Given the description of an element on the screen output the (x, y) to click on. 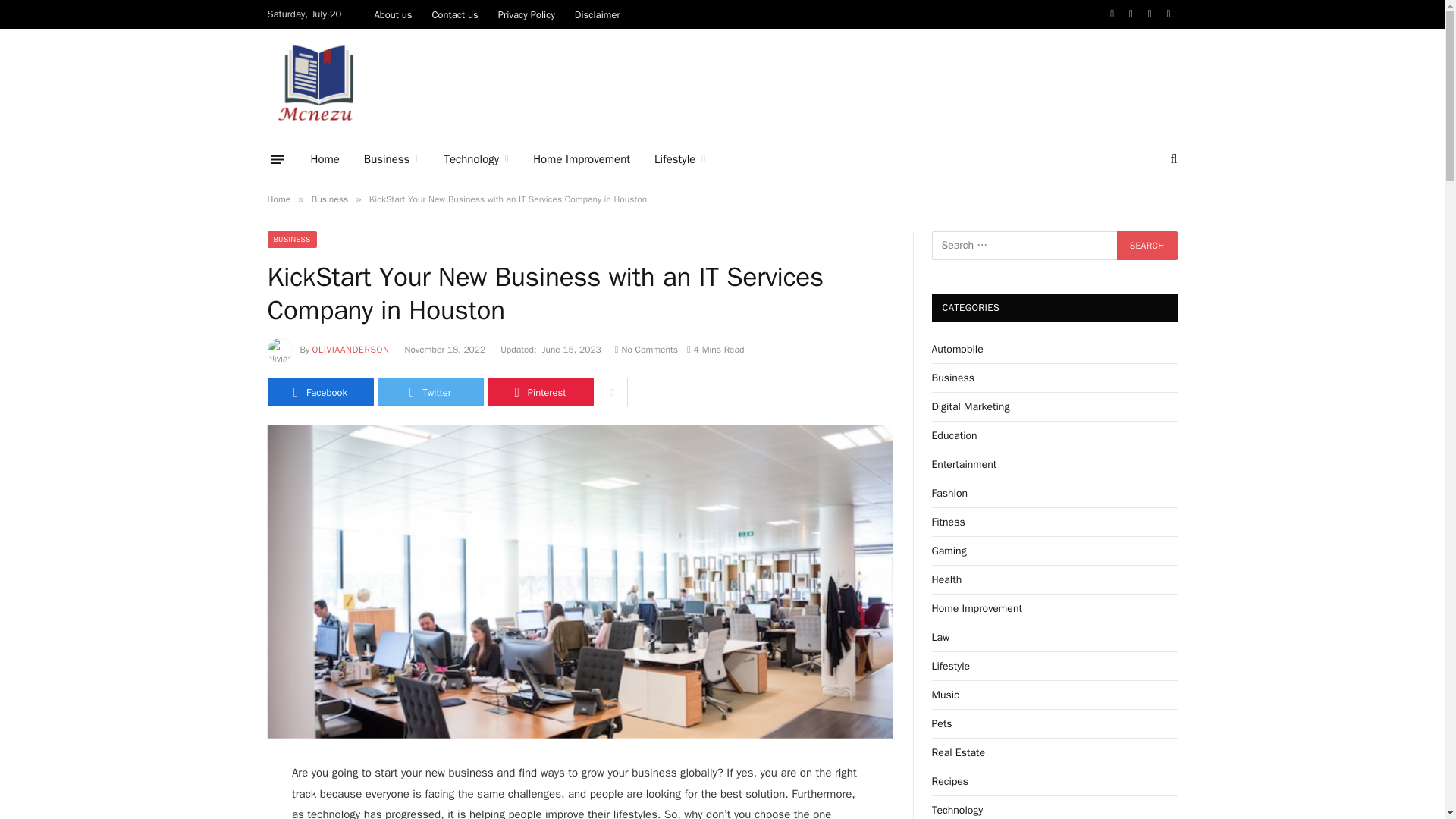
Search (1146, 245)
About us (393, 14)
Technology (476, 159)
Business (392, 159)
Search (1146, 245)
Home (325, 159)
Disclaimer (597, 14)
Privacy Policy (525, 14)
Contact us (454, 14)
